Given the description of an element on the screen output the (x, y) to click on. 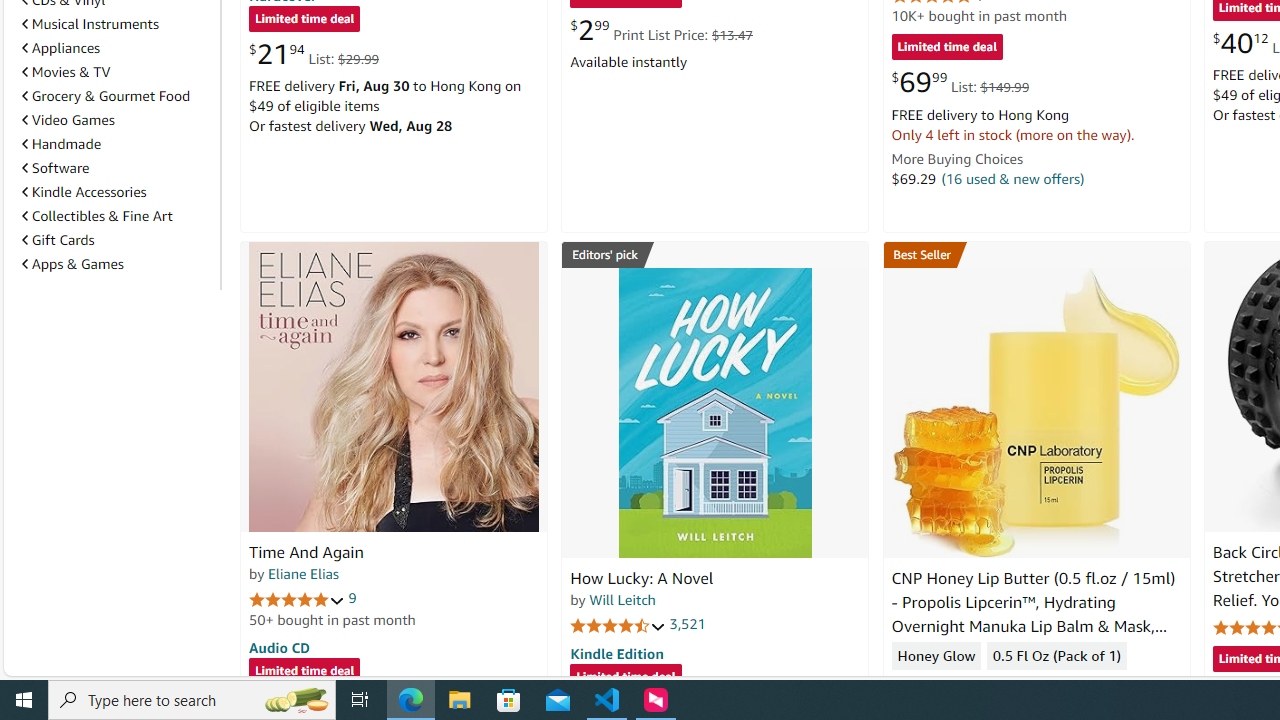
Movies & TV (66, 71)
Apps & Games (72, 263)
Musical Instruments (89, 24)
Appliances (117, 48)
4.3 out of 5 stars (939, 685)
Musical Instruments (117, 23)
Grocery & Gourmet Food (105, 96)
Handmade (61, 143)
Handmade (117, 143)
Video Games (68, 119)
$2.99 Print List Price: $13.47 (660, 30)
How Lucky: A Novel (641, 578)
